Given the description of an element on the screen output the (x, y) to click on. 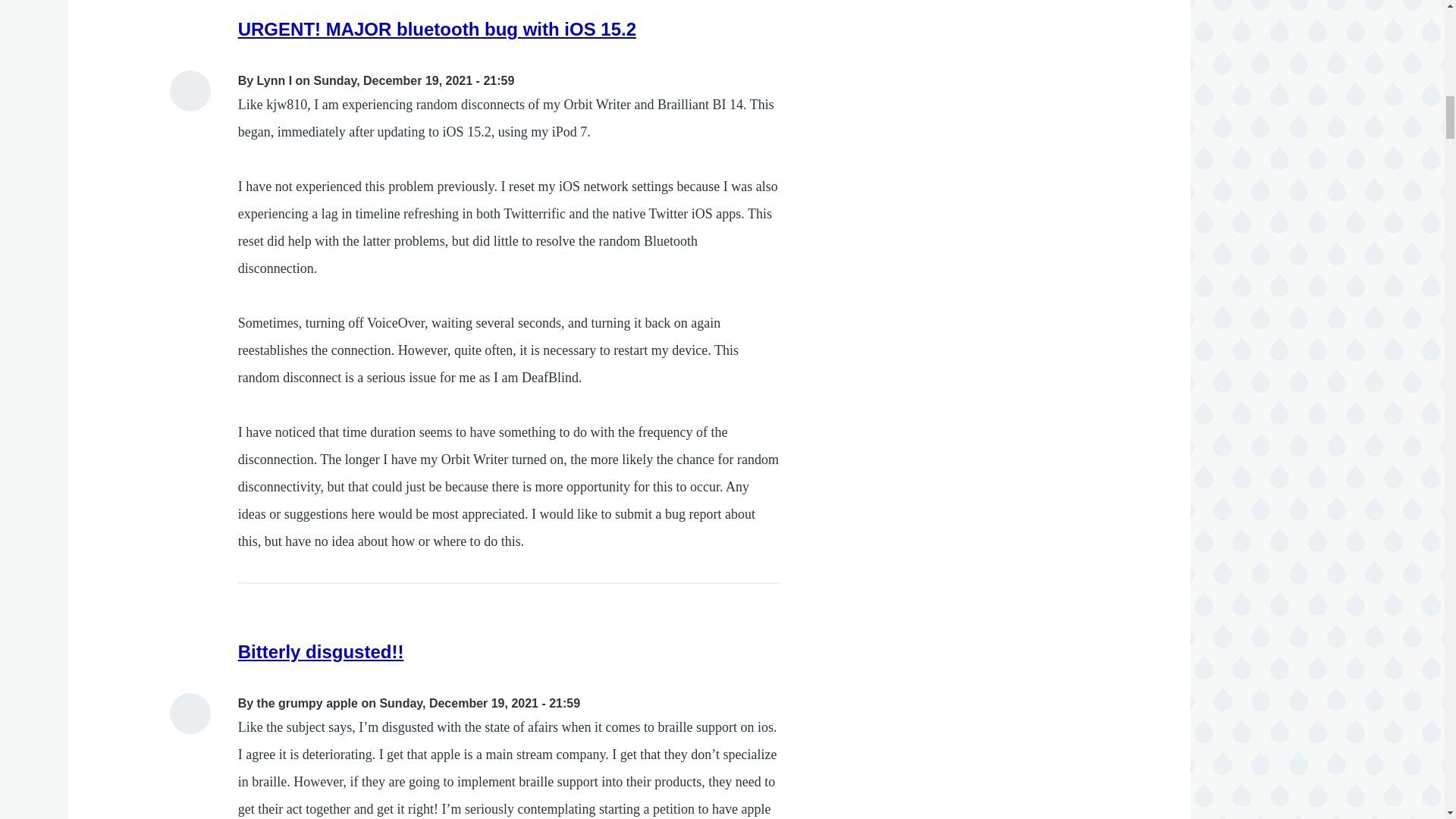
URGENT! MAJOR bluetooth bug with iOS 15.2 (437, 28)
Bitterly disgusted!! (321, 651)
